Given the description of an element on the screen output the (x, y) to click on. 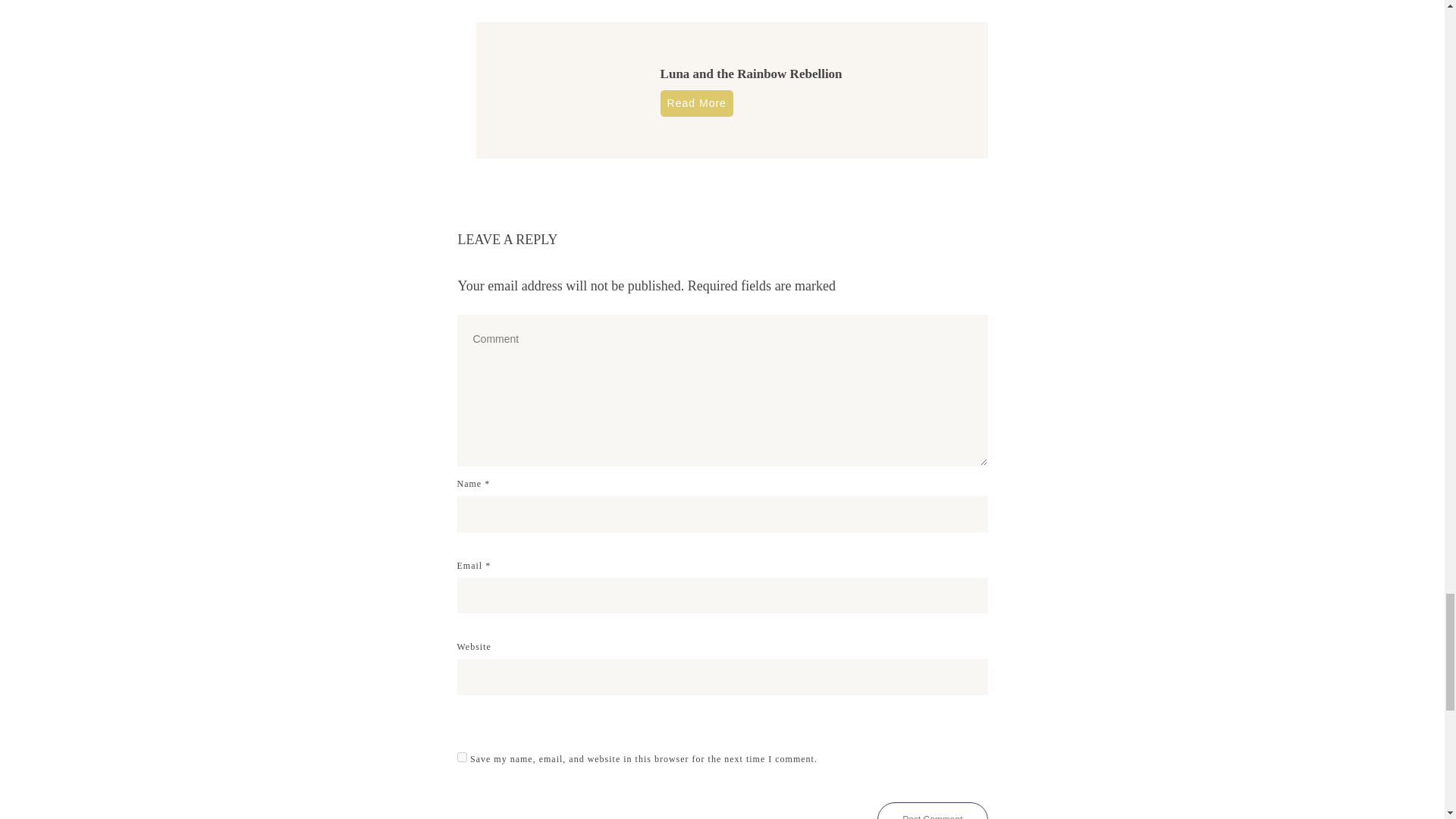
Post Comment (932, 810)
Luna and the Rainbow Rebellion (752, 73)
yes (461, 757)
Luna and the Rainbow Rebellion (752, 73)
Read More (697, 103)
